Given the description of an element on the screen output the (x, y) to click on. 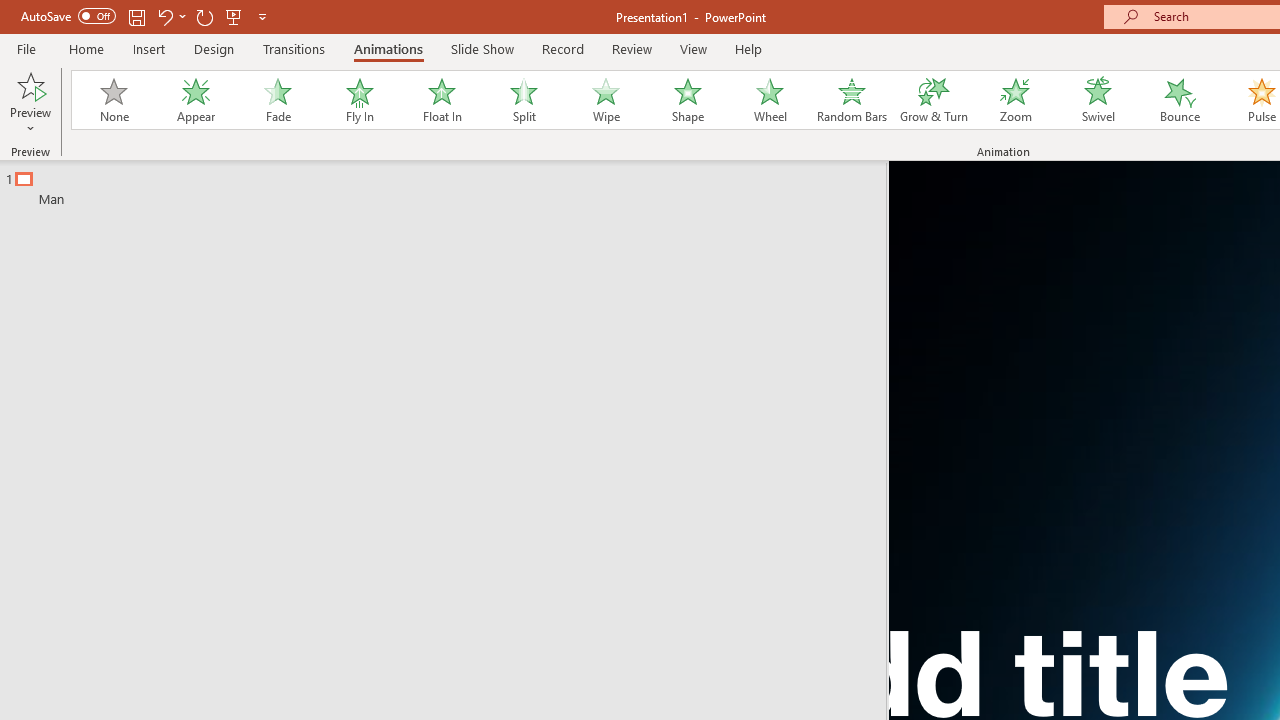
Fade (277, 100)
Wipe (605, 100)
Bounce (1180, 100)
